Given the description of an element on the screen output the (x, y) to click on. 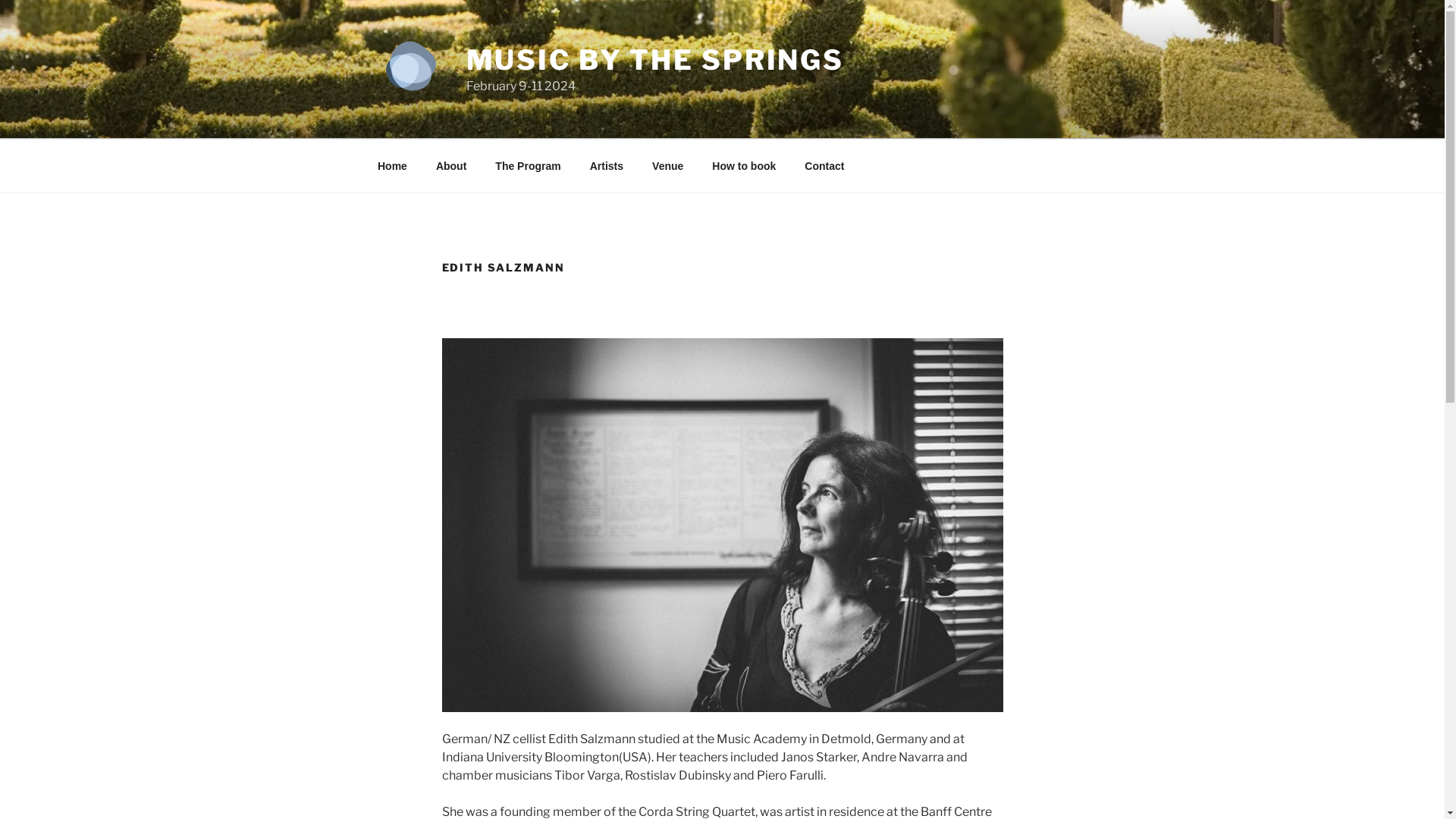
Home Element type: text (392, 165)
Venue Element type: text (667, 165)
Contact Element type: text (824, 165)
The Program Element type: text (528, 165)
Artists Element type: text (606, 165)
MUSIC BY THE SPRINGS Element type: text (655, 59)
About Element type: text (450, 165)
How to book Element type: text (744, 165)
